Given the description of an element on the screen output the (x, y) to click on. 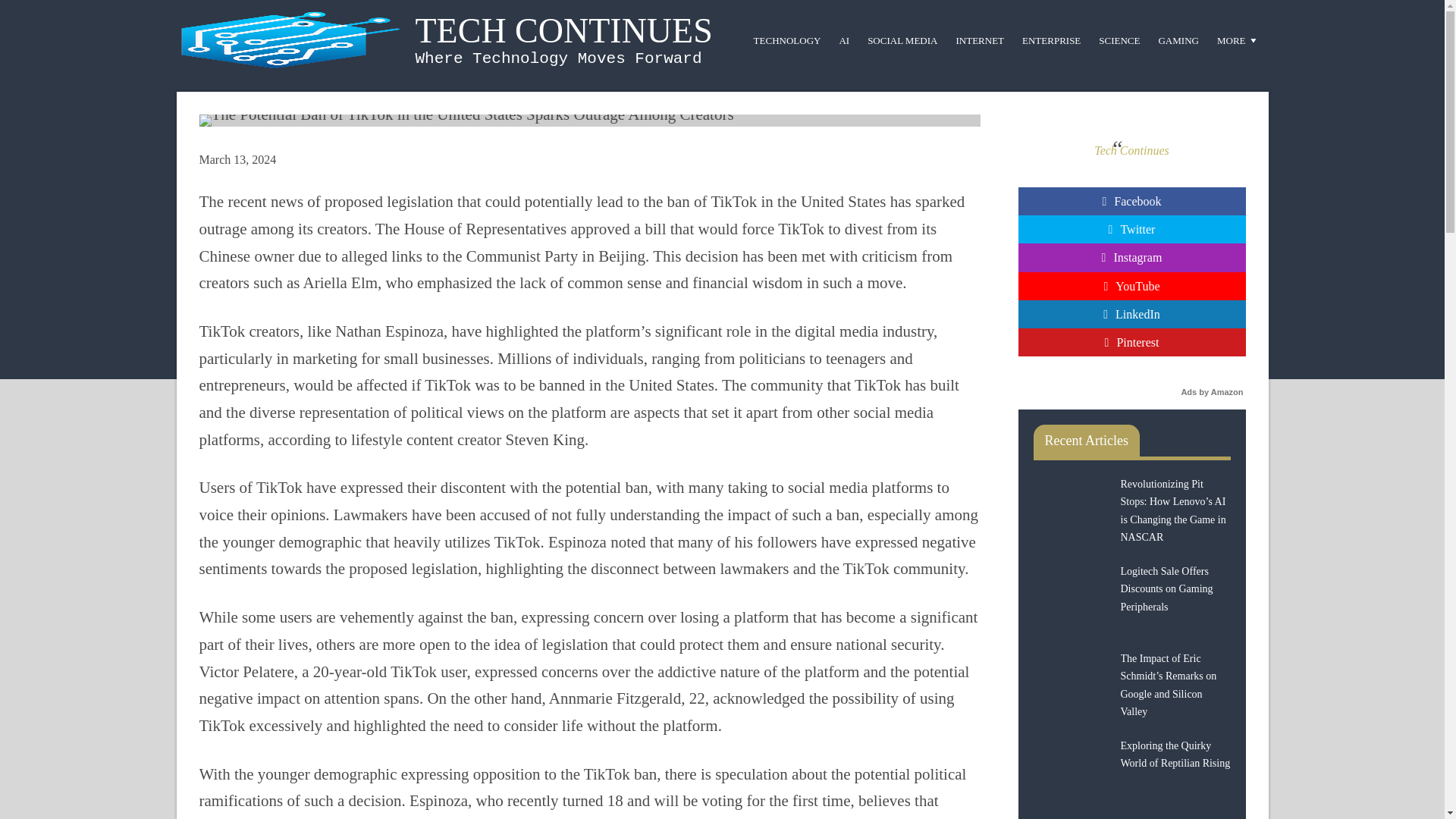
SCIENCE (1118, 39)
TECHNOLOGY (786, 39)
TECH CONTINUES (563, 30)
GAMING (1177, 39)
ENTERPRISE (1051, 39)
MORE (1238, 39)
SOCIAL MEDIA (902, 39)
INTERNET (979, 39)
